Given the description of an element on the screen output the (x, y) to click on. 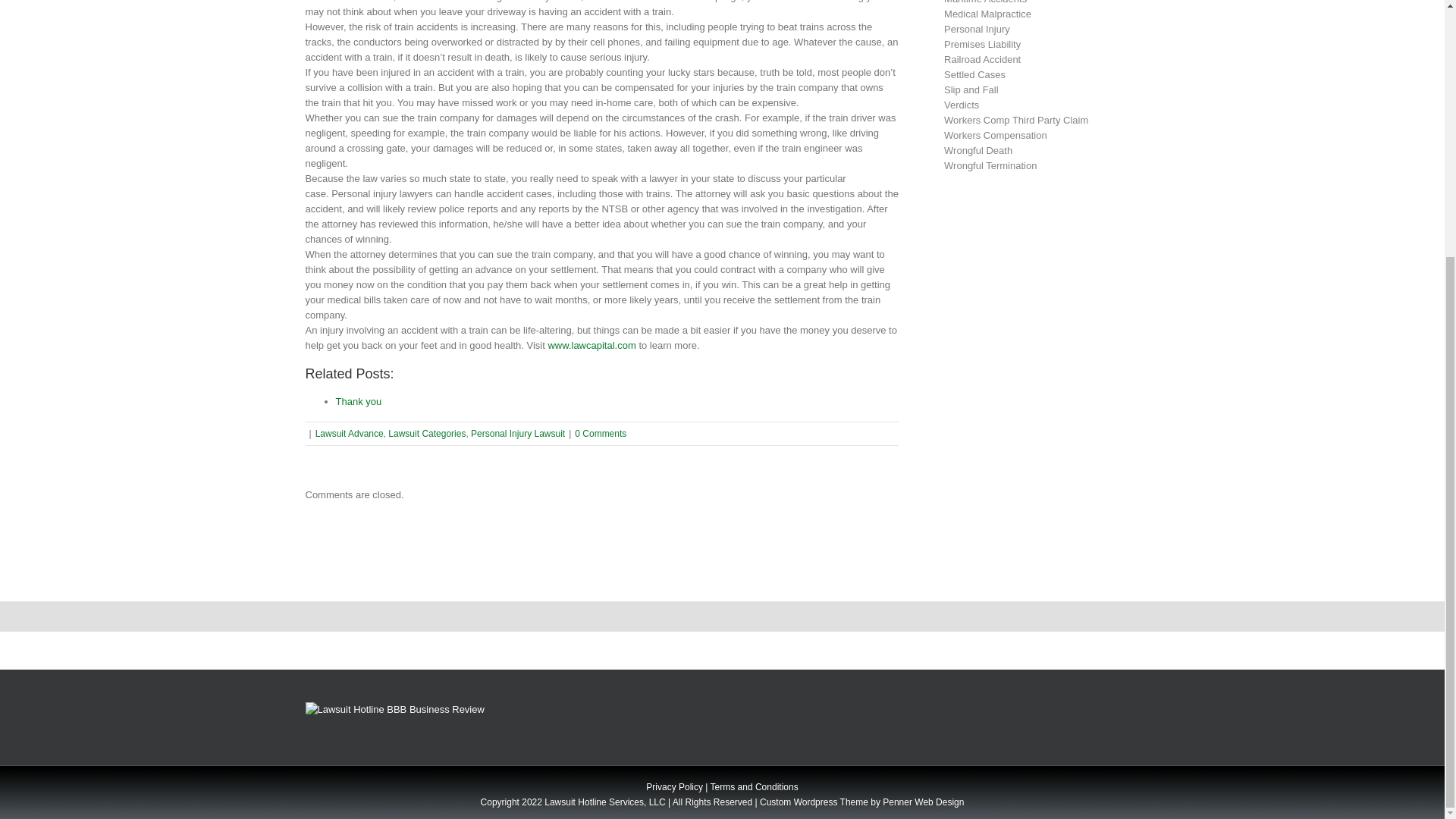
Lawsuit Categories (426, 433)
www.lawcapital.com (590, 345)
Thank you (357, 401)
Personal Injury Lawsuit (517, 433)
Lawsuit Advance (349, 433)
